Given the description of an element on the screen output the (x, y) to click on. 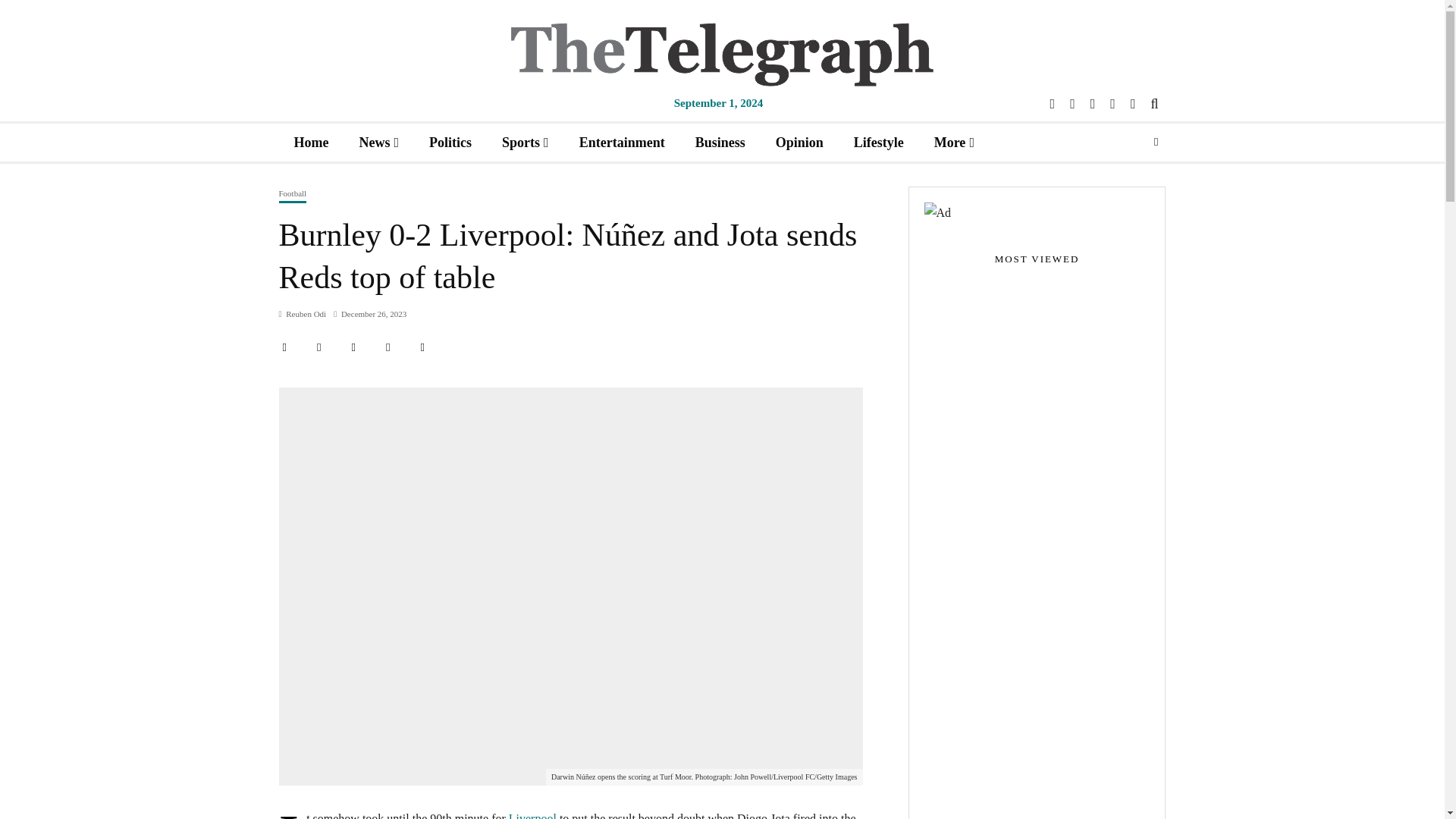
Lifestyle (878, 141)
Business (719, 141)
Opinion (799, 141)
More (954, 141)
Politics (449, 141)
Home (311, 141)
Entertainment (621, 141)
Sports (525, 141)
News (378, 141)
